Given the description of an element on the screen output the (x, y) to click on. 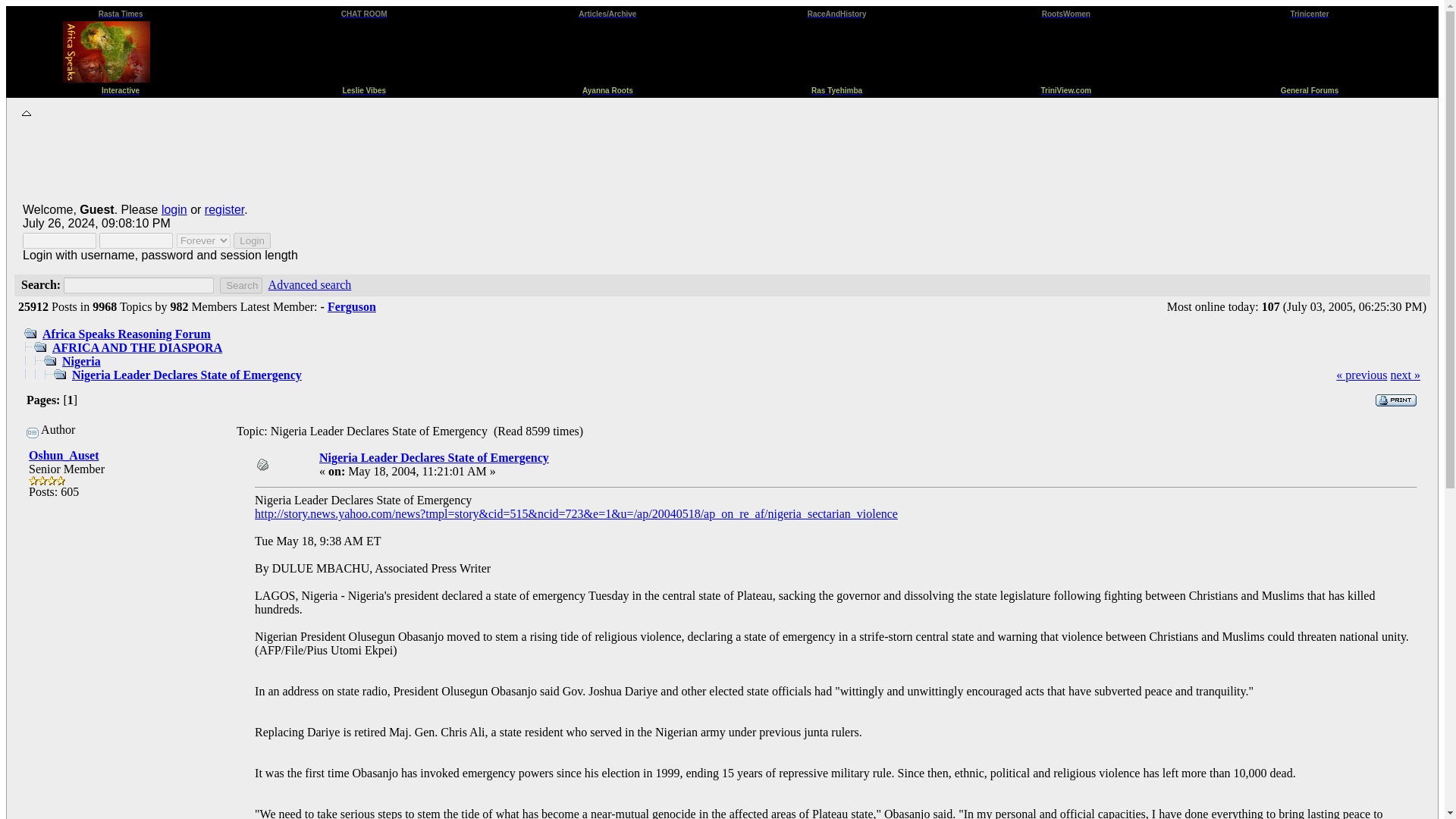
register (224, 209)
Search (240, 285)
Rasta Times (120, 11)
RootsWomen (1066, 11)
Ayanna Roots (607, 88)
Search (240, 285)
Trinicenter (1308, 11)
Login (251, 240)
CHAT ROOM (363, 11)
Nigeria Leader Declares State of Emergency (433, 457)
AFRICA AND THE DIASPORA (137, 347)
Nigeria Leader Declares State of Emergency (186, 374)
Ferguson (351, 306)
Advanced search (309, 284)
Ras Tyehimba (835, 88)
